Given the description of an element on the screen output the (x, y) to click on. 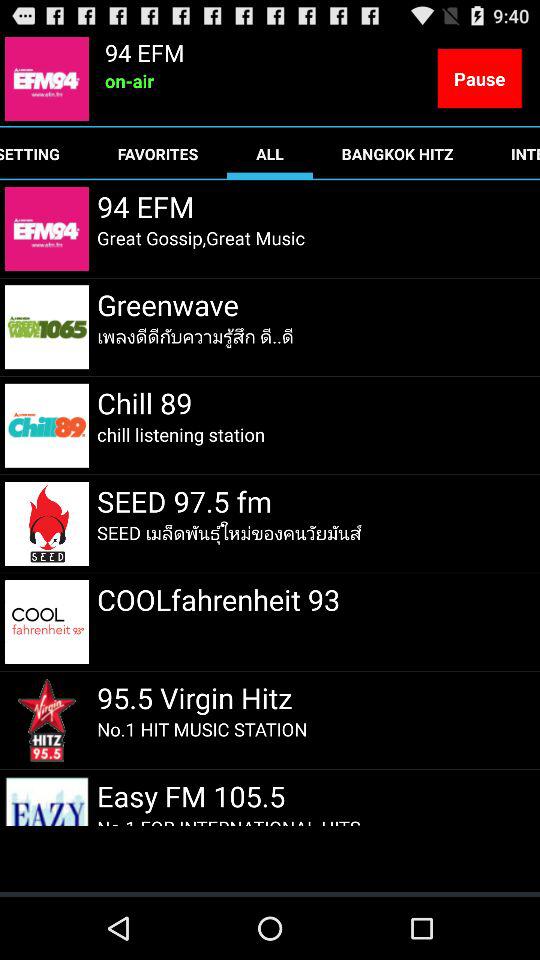
open item above the 95 5 virgin app (218, 599)
